Given the description of an element on the screen output the (x, y) to click on. 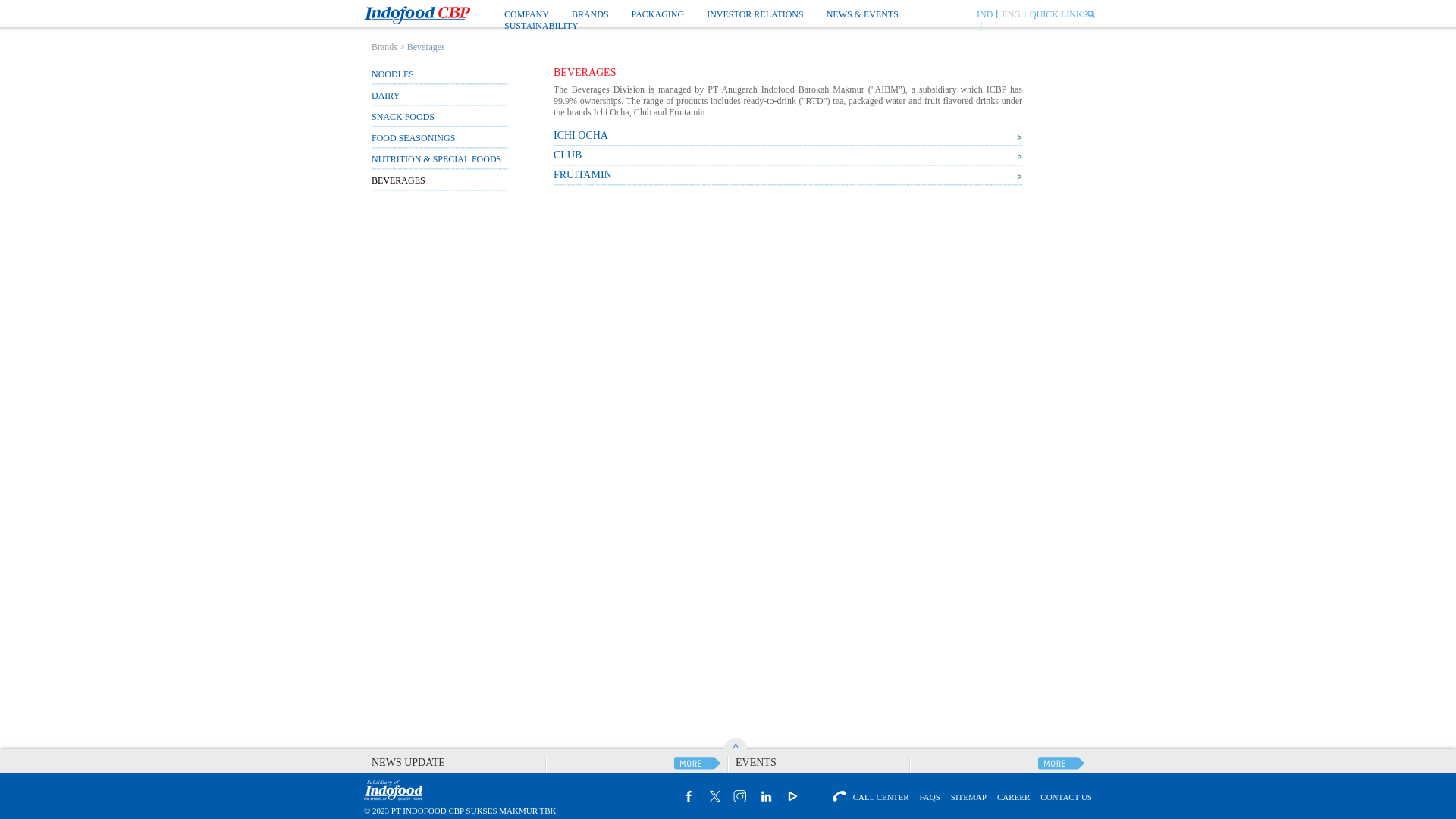
SUSTAINABILITY (540, 25)
IND (984, 14)
BRANDS (590, 14)
ENG (1010, 14)
INVESTOR RELATIONS (754, 14)
QUICK LINKS (1058, 14)
PACKAGING (657, 14)
COMPANY (525, 14)
